Given the description of an element on the screen output the (x, y) to click on. 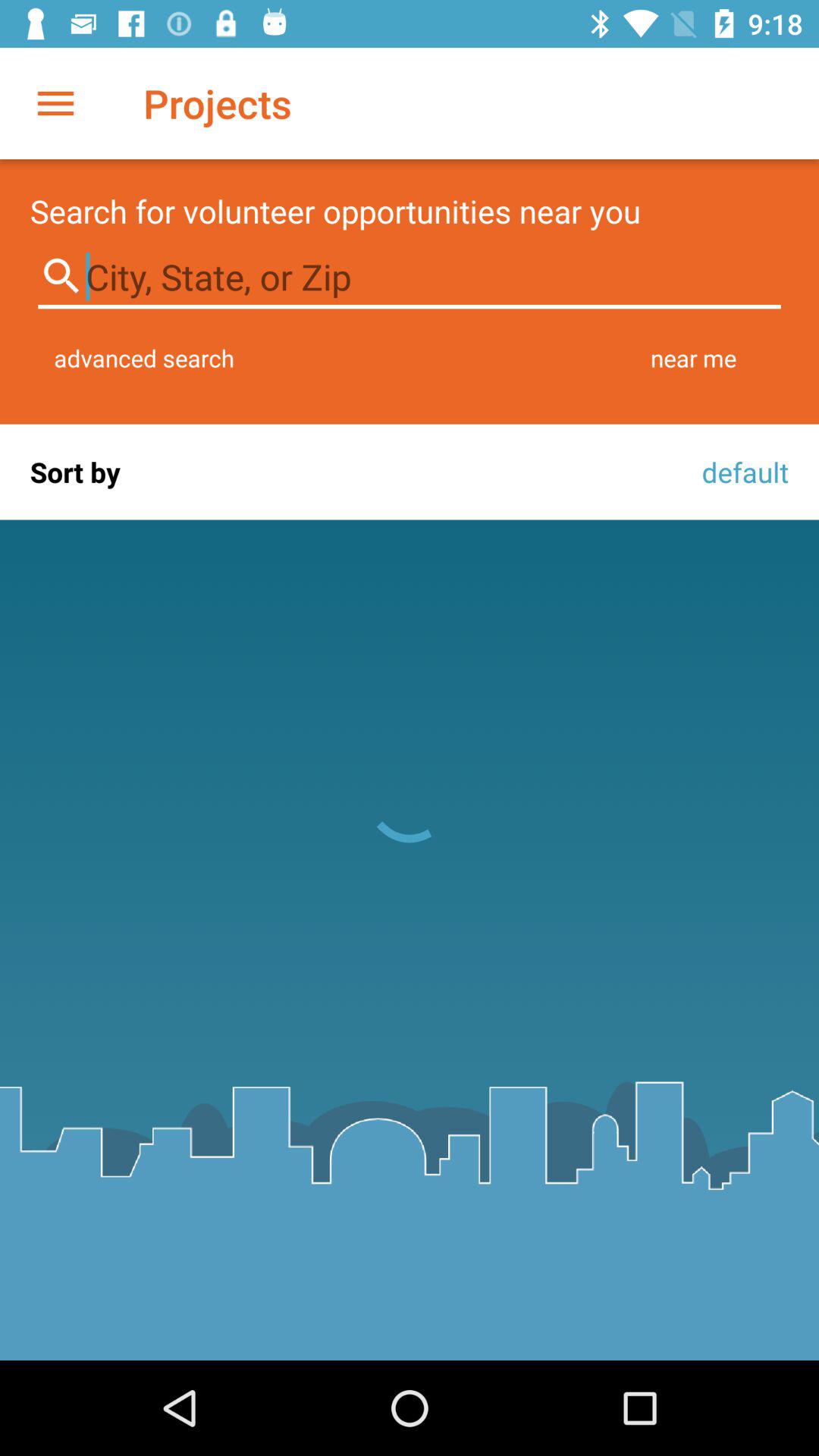
launch icon to the left of the near me item (144, 358)
